Given the description of an element on the screen output the (x, y) to click on. 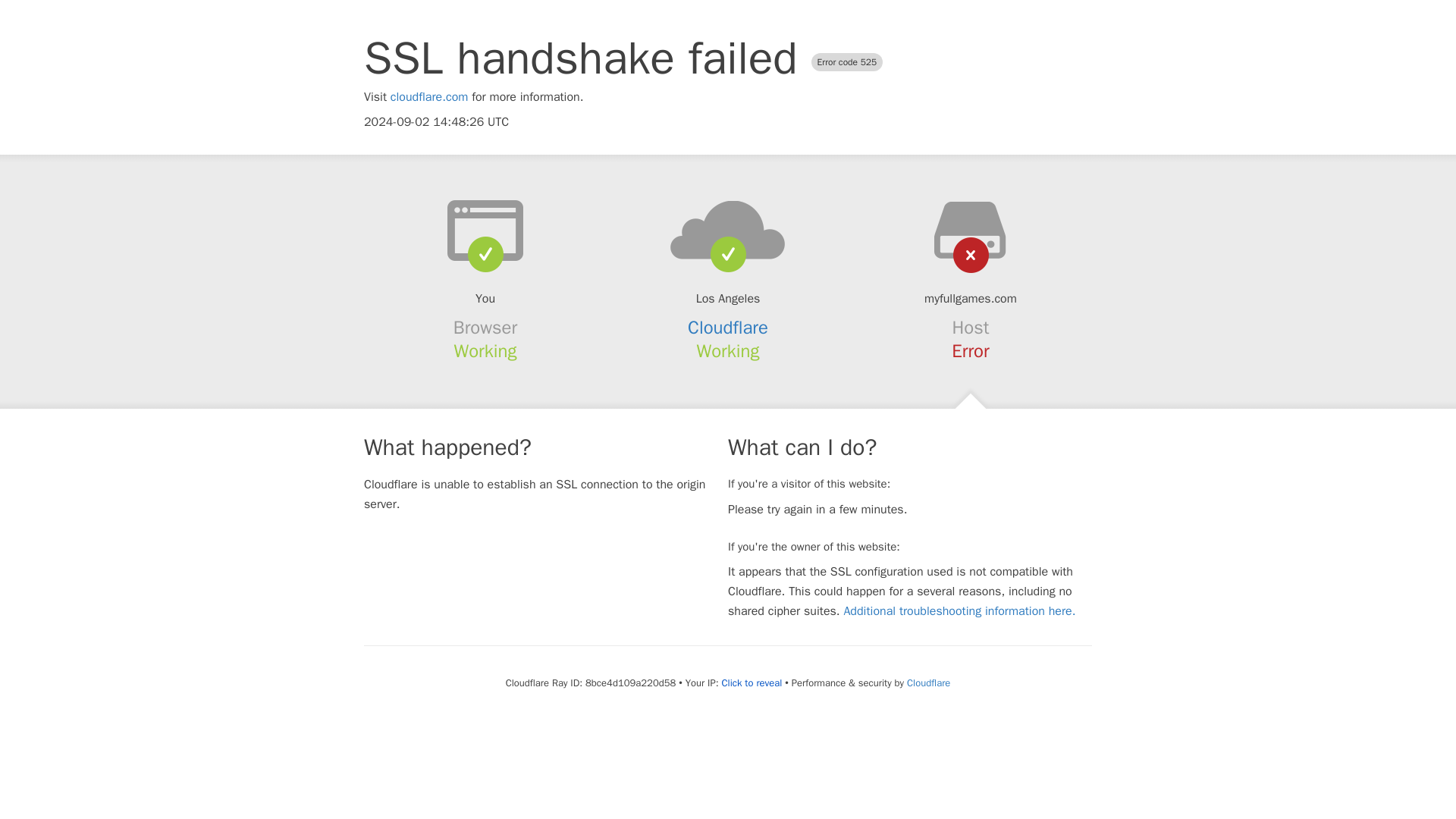
Additional troubleshooting information here. (959, 611)
Cloudflare (928, 682)
Cloudflare (727, 327)
Click to reveal (750, 683)
cloudflare.com (429, 96)
